Given the description of an element on the screen output the (x, y) to click on. 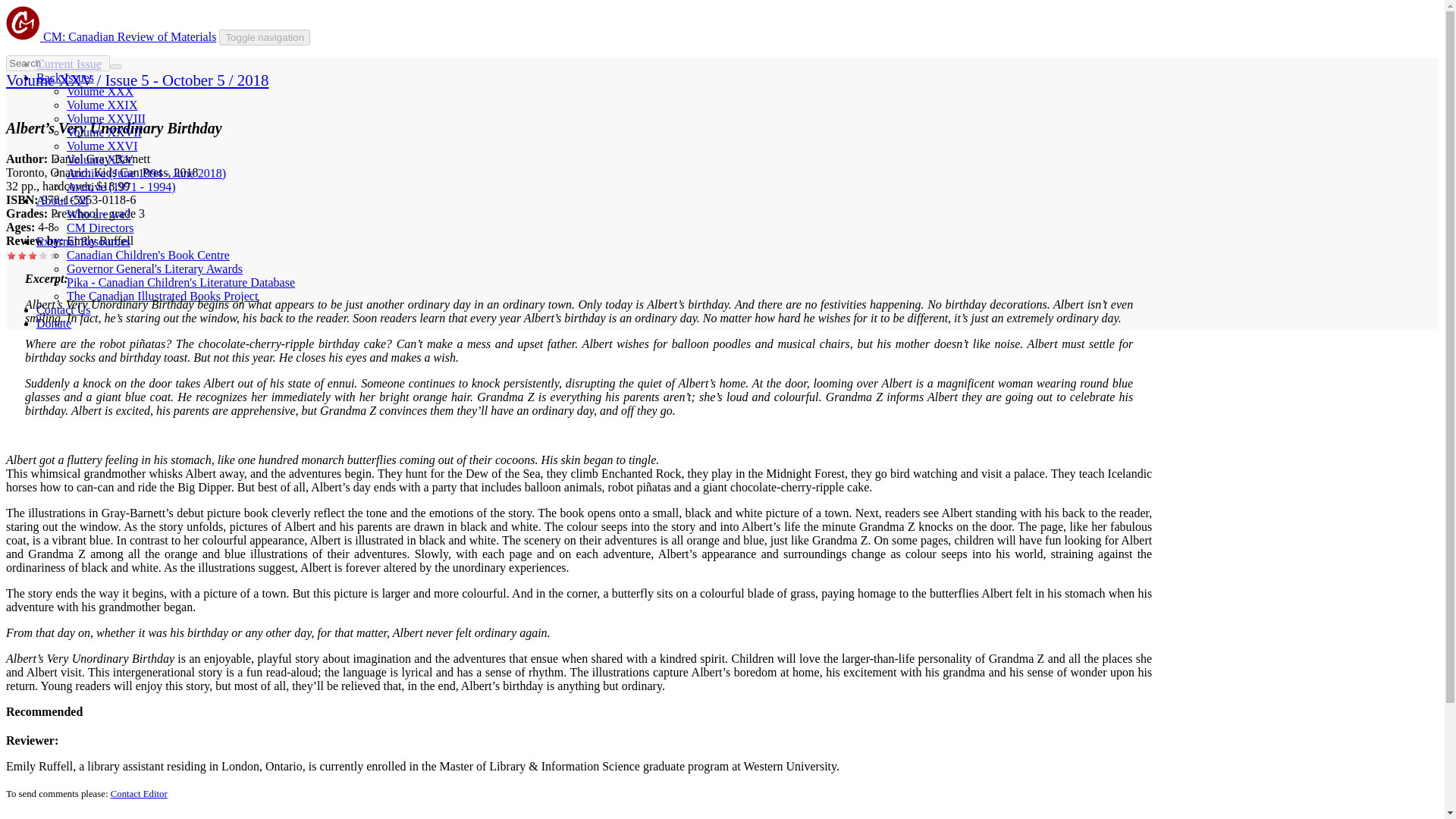
About CM (62, 200)
Volume XXVI (101, 145)
Back Issues (65, 77)
CM archive from 1994 to 2018 (145, 173)
Volume XXIX (101, 104)
Pika - Canadian Children's Literature Database (180, 282)
CM Directors (99, 227)
CM: Canadian Review of Materials (129, 36)
Contact Us (63, 309)
Home (129, 36)
Donate (53, 323)
Search (27, 73)
Current Issue (68, 63)
Volume XXVIII (105, 118)
The Canadian Illustrated Books Project (161, 295)
